Given the description of an element on the screen output the (x, y) to click on. 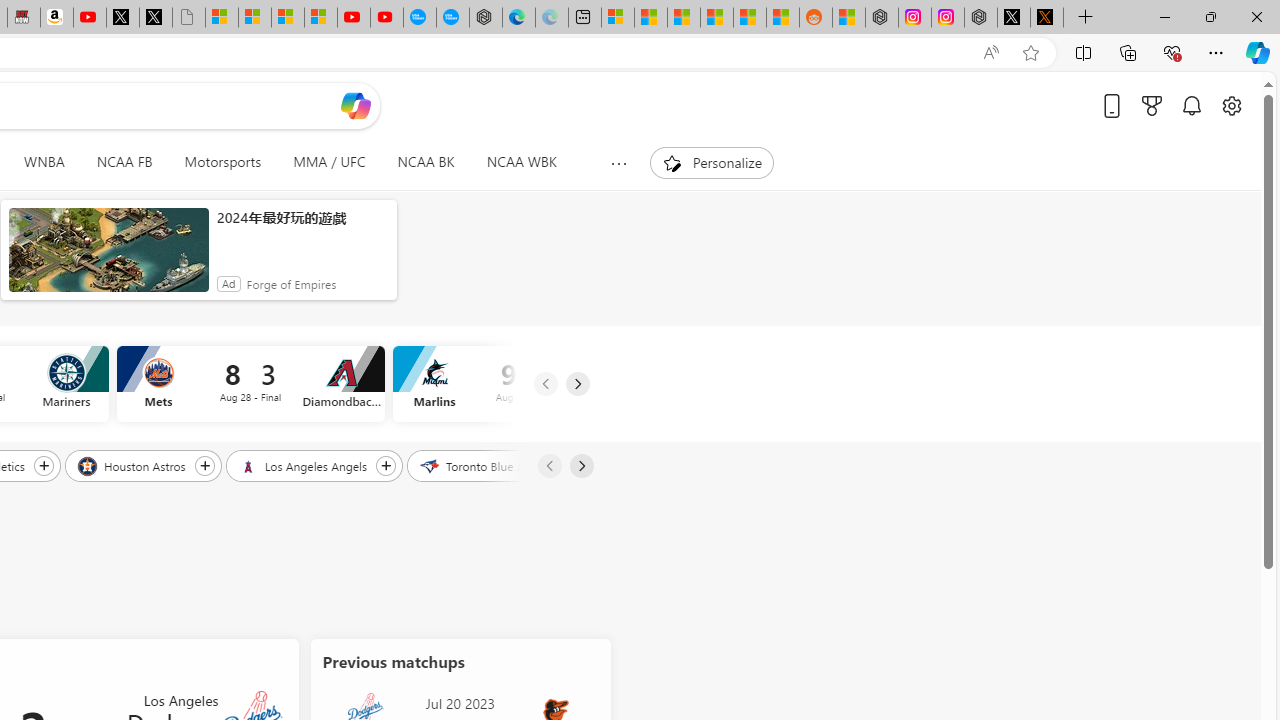
Follow Oakland Athletics (43, 465)
Shanghai, China weather forecast | Microsoft Weather (650, 17)
anim-content (107, 258)
MMA / UFC (329, 162)
Microsoft account | Microsoft Account Privacy Settings (617, 17)
The most popular Google 'how to' searches (452, 17)
Gloom - YouTube (353, 17)
Notifications (1192, 105)
Show more topics (617, 163)
